Given the description of an element on the screen output the (x, y) to click on. 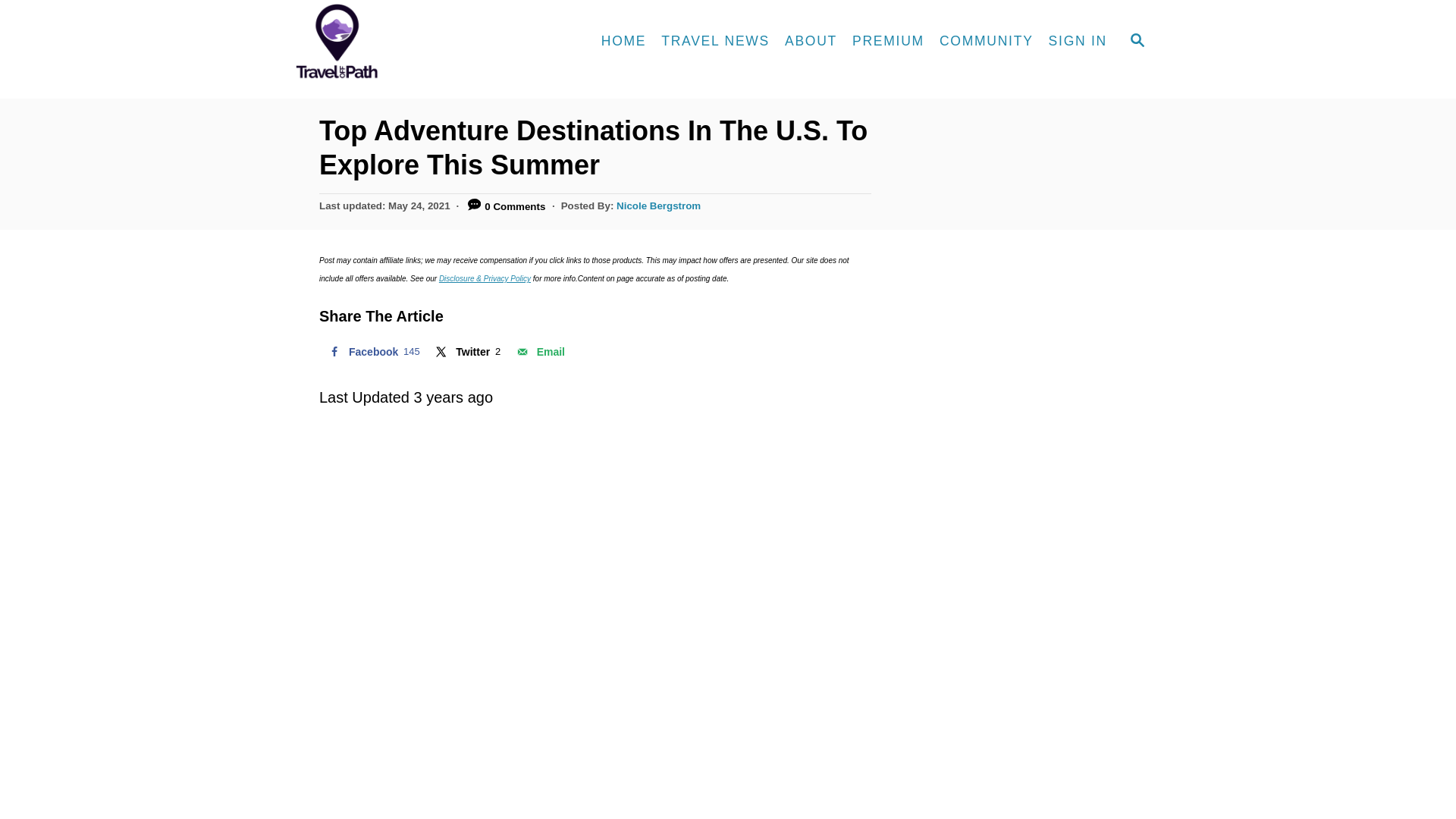
Share on Facebook (372, 351)
Share on X (466, 351)
Email (539, 351)
PREMIUM (887, 41)
ABOUT (810, 41)
SEARCH (1137, 40)
Send over email (539, 351)
Nicole Bergstrom (657, 205)
SIGN IN (1078, 41)
Travel Off Path (424, 41)
HOME (623, 41)
TRAVEL NEWS (466, 351)
COMMUNITY (715, 41)
